Given the description of an element on the screen output the (x, y) to click on. 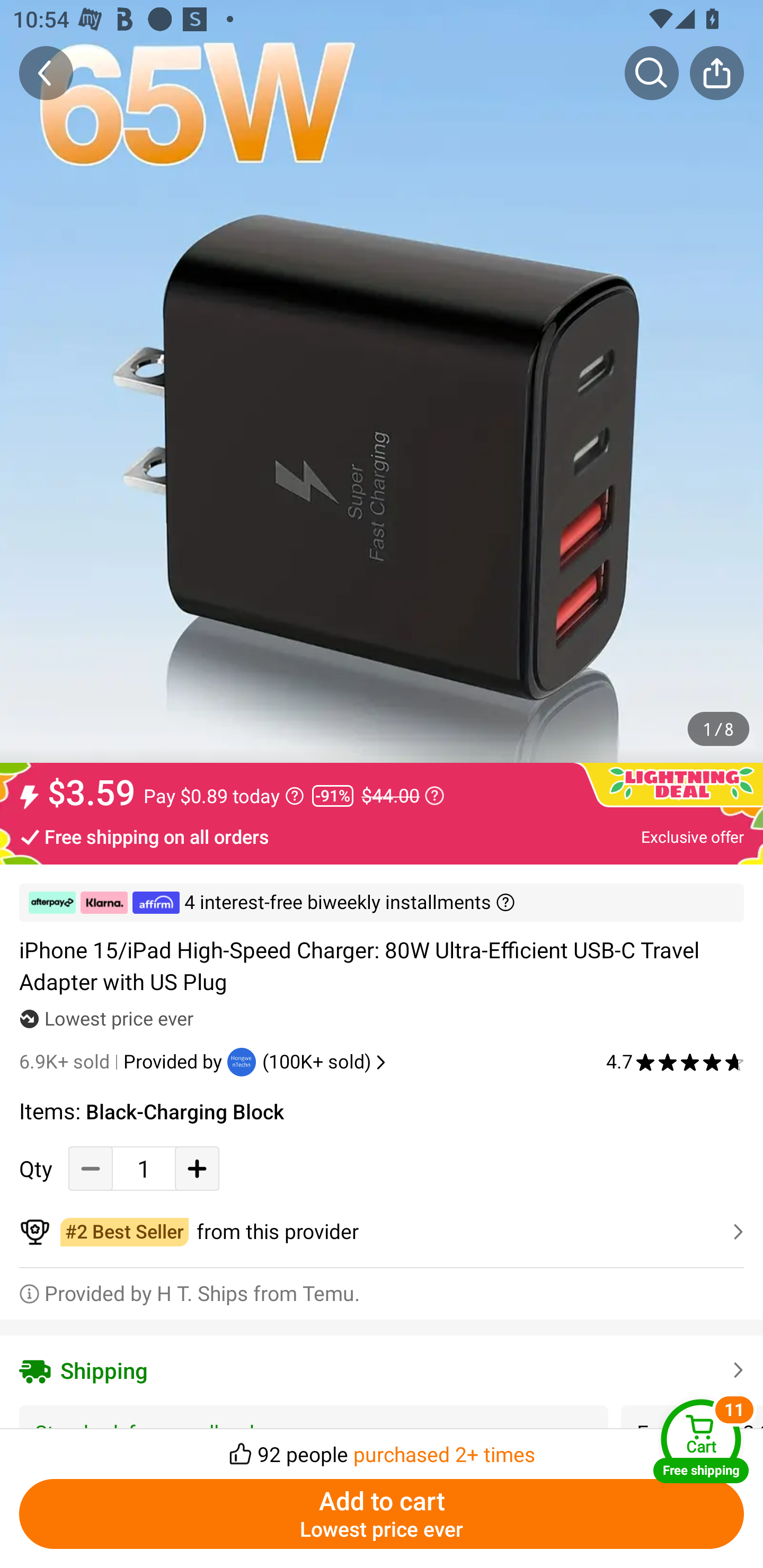
Back (46, 72)
Share (716, 72)
Pay $0.89 today   (223, 795)
Free shipping on all orders Exclusive offer (381, 836)
￼ ￼ ￼ 4 interest-free biweekly installments ￼ (381, 902)
6.9K+ sold Provided by  (123, 1061)
4.7 (674, 1061)
Decrease Quantity Button (90, 1168)
1 (143, 1168)
Add Quantity button (196, 1168)
￼￼from this provider (381, 1231)
Shipping (381, 1369)
Cart Free shipping Cart (701, 1440)
￼￼92 people purchased 2+ times (381, 1448)
Add to cart Lowest price ever (381, 1513)
